Given the description of an element on the screen output the (x, y) to click on. 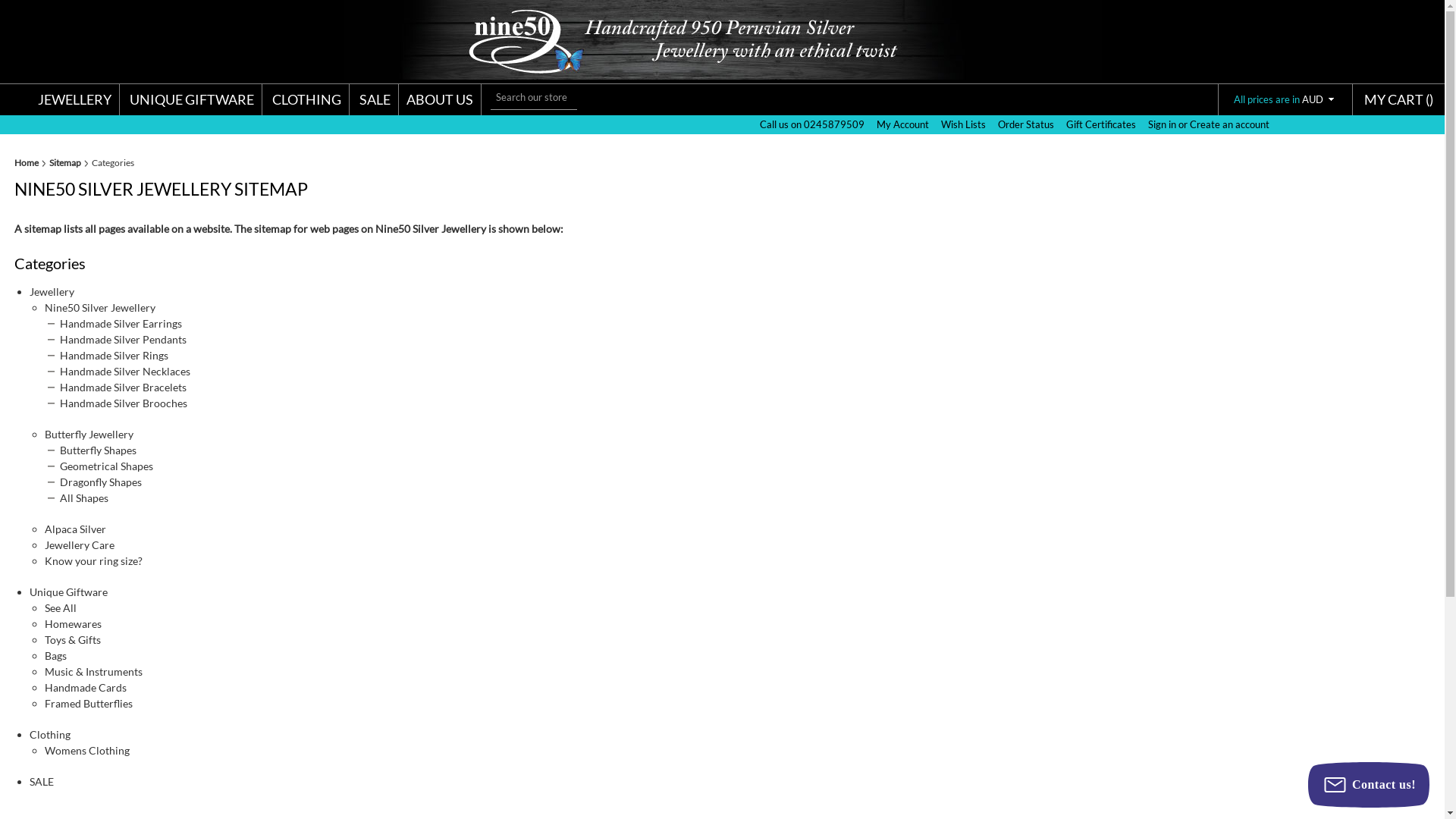
Handmade Silver Brooches Element type: text (123, 402)
Dragonfly Shapes Element type: text (100, 481)
Homewares Element type: text (72, 623)
CLOTHING Element type: text (306, 99)
Wish Lists Element type: text (962, 124)
Handmade Silver Rings Element type: text (113, 354)
Handmade Silver Bracelets Element type: text (122, 386)
Music & Instruments Element type: text (93, 671)
SALE Element type: text (41, 781)
SALE Element type: text (374, 99)
See All Element type: text (60, 607)
Unique Giftware Element type: text (68, 591)
Geometrical Shapes Element type: text (106, 465)
UNIQUE GIFTWARE Element type: text (191, 99)
Sign in Element type: text (1162, 124)
Know your ring size? Element type: text (93, 560)
Jewellery Element type: text (51, 291)
Alpaca Silver Element type: text (75, 528)
Handmade Silver Pendants Element type: text (122, 338)
MY CART () Element type: text (1398, 99)
ABOUT US Element type: text (439, 99)
Handmade Cards Element type: text (85, 686)
Clothing Element type: text (49, 734)
Butterfly Shapes Element type: text (97, 449)
Handmade Silver Necklaces Element type: text (124, 370)
Butterfly Jewellery Element type: text (88, 433)
Gift Certificates Element type: text (1100, 124)
Handmade Silver Earrings Element type: text (120, 322)
Nine50 Silver Jewellery Element type: text (99, 307)
Order Status Element type: text (1025, 124)
Home Element type: text (30, 162)
Womens Clothing Element type: text (86, 749)
Jewellery Care Element type: text (79, 544)
All Shapes Element type: text (83, 497)
JEWELLERY Element type: text (74, 99)
Create an account Element type: text (1228, 124)
Toys & Gifts Element type: text (72, 639)
Sitemap Element type: text (68, 162)
Framed Butterflies Element type: text (88, 702)
Bags Element type: text (55, 655)
My Account Element type: text (902, 124)
All prices are in AUD Element type: text (1284, 99)
